Given the description of an element on the screen output the (x, y) to click on. 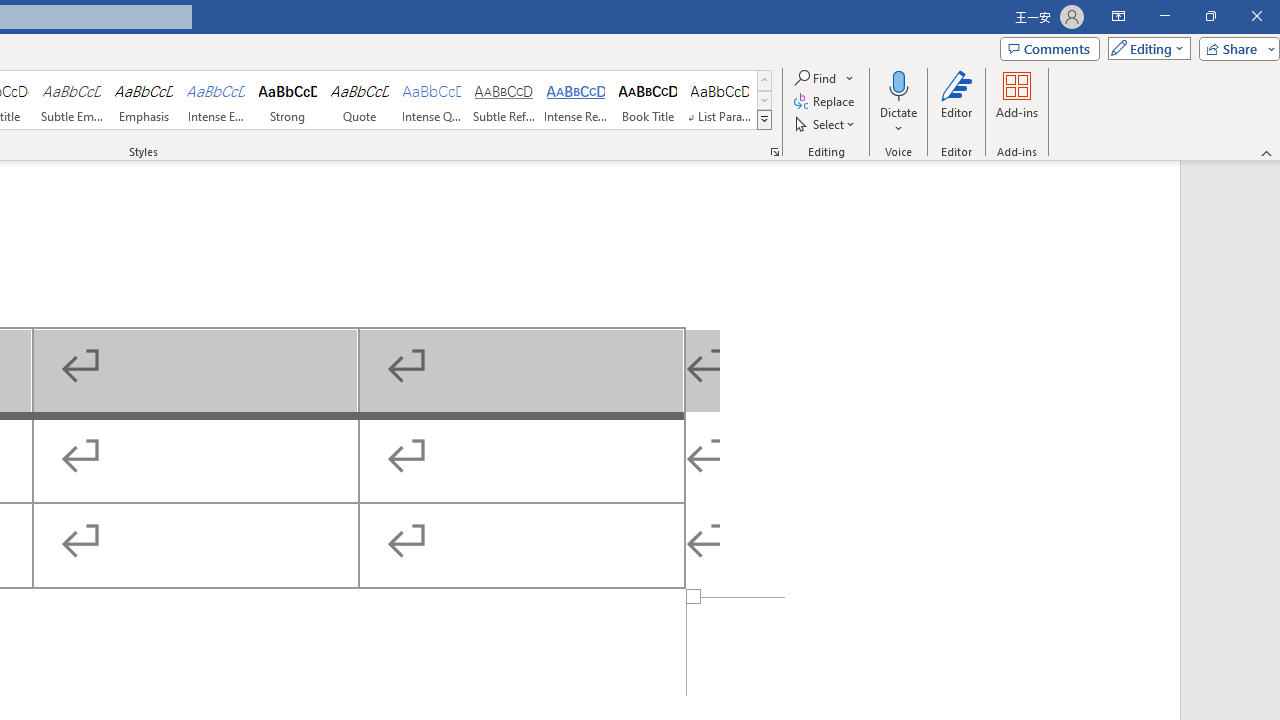
Intense Reference (575, 100)
